Given the description of an element on the screen output the (x, y) to click on. 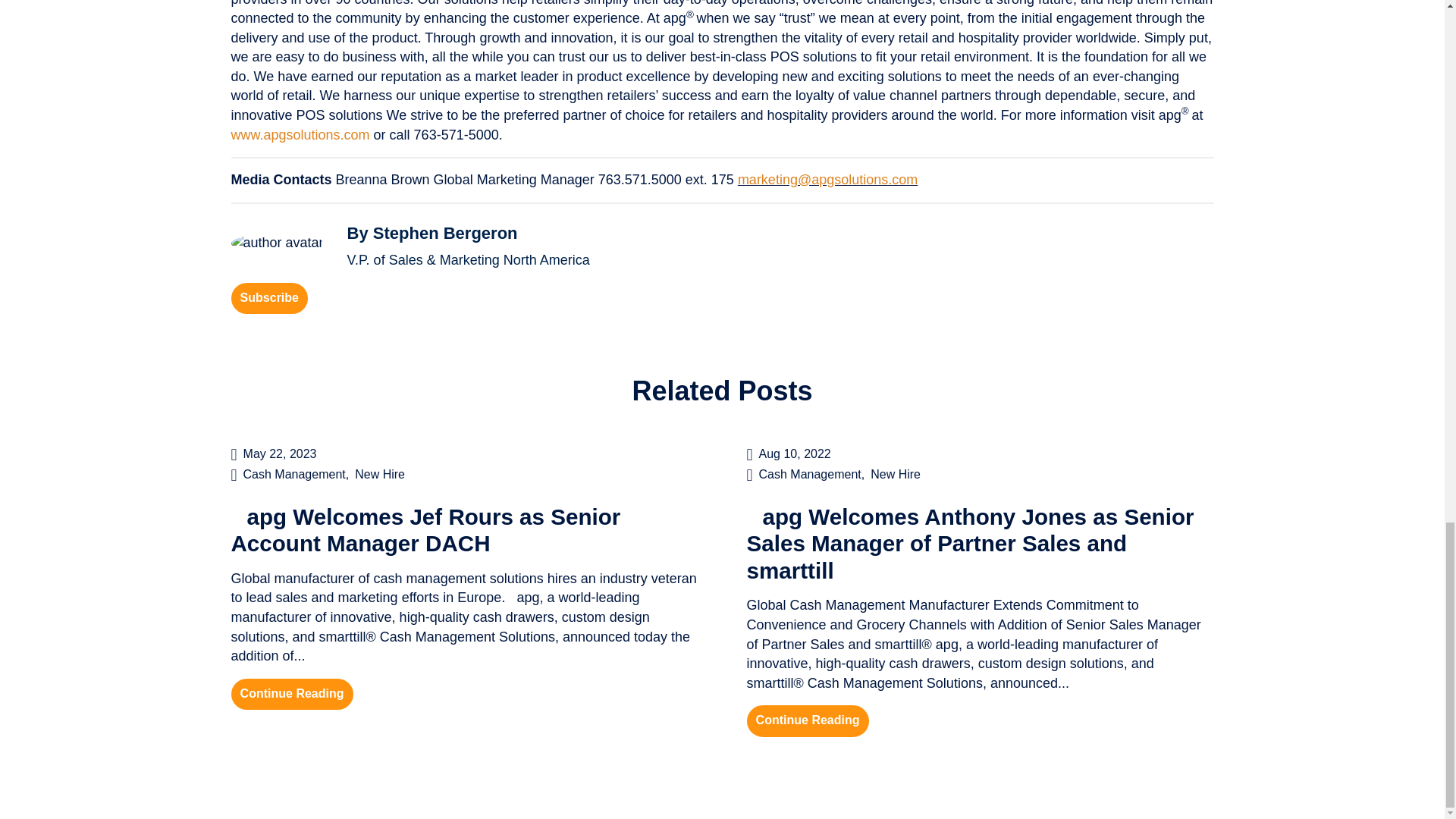
Subscribe (268, 298)
Continue Reading (806, 721)
apg Welcomes Jef Rours as Senior Account Manager DACH (425, 530)
Continue Reading (291, 694)
www.apgsolutions.com (299, 134)
